Given the description of an element on the screen output the (x, y) to click on. 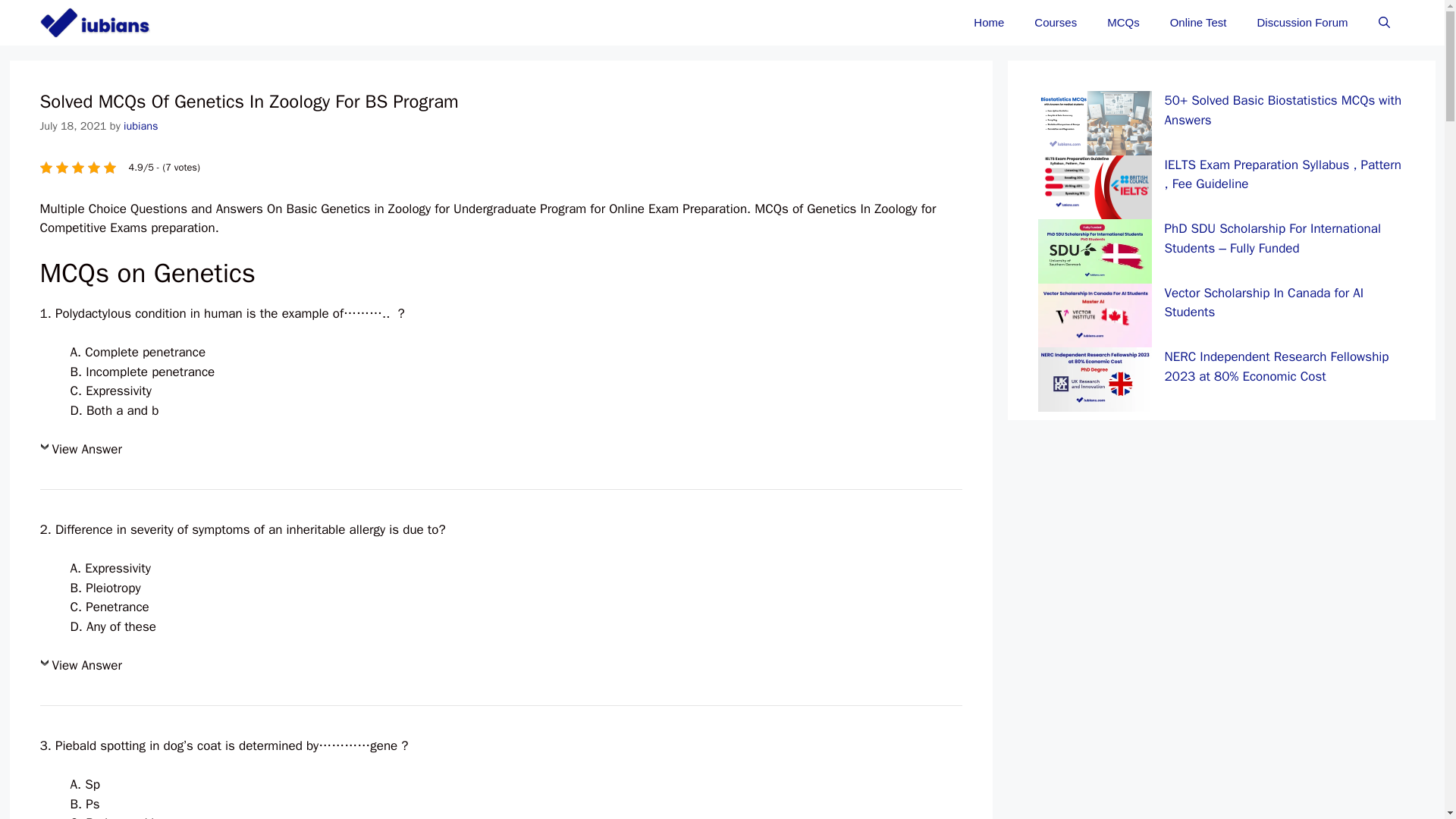
Online Test (1197, 22)
View all posts by iubians (140, 125)
Courses (1055, 22)
iubians (94, 22)
iubians (140, 125)
iubians (98, 22)
Discussion Forum (1301, 22)
MCQs (1123, 22)
Home (988, 22)
